Given the description of an element on the screen output the (x, y) to click on. 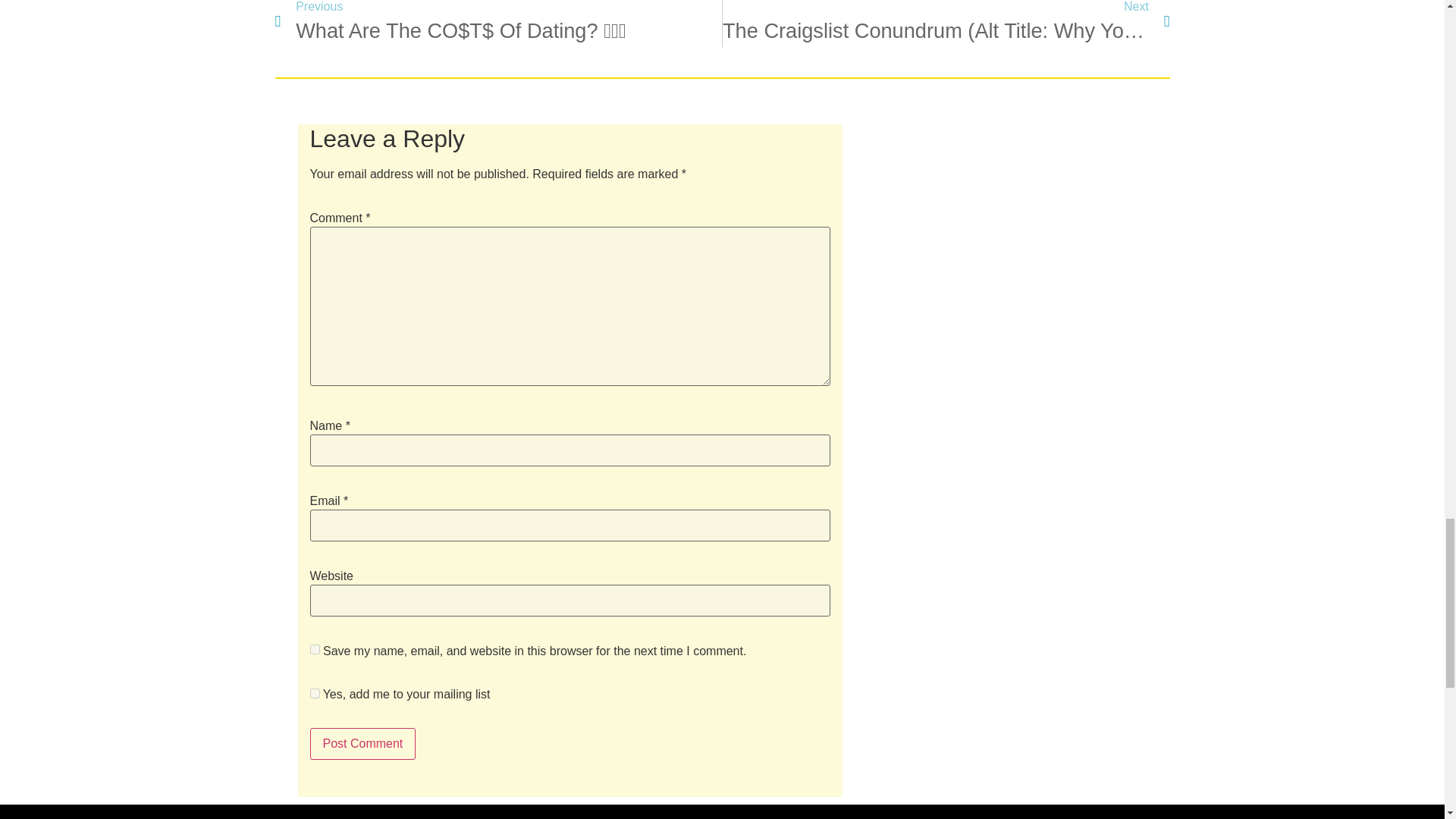
1 (313, 693)
Post Comment (361, 744)
Post Comment (361, 744)
yes (313, 649)
